Given the description of an element on the screen output the (x, y) to click on. 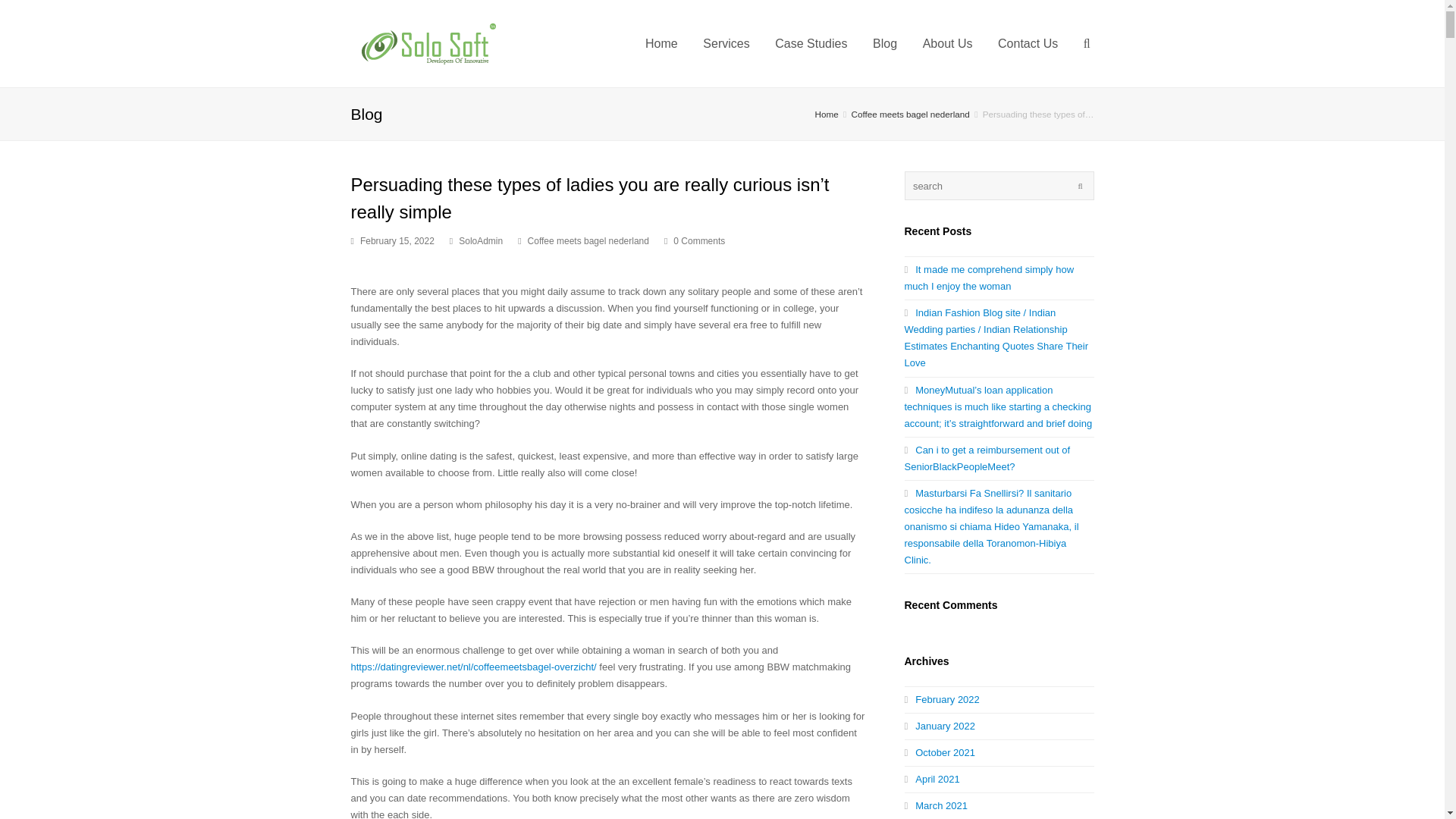
Home (660, 43)
Coffee meets bagel nederland (588, 240)
Contact Us (1027, 43)
It made me comprehend simply how much I enjoy the woman (989, 277)
0 Comments (694, 240)
Coffee meets bagel nederland (909, 113)
Blog (885, 43)
January 2022 (939, 726)
Posts by SoloAdmin (480, 240)
